Given the description of an element on the screen output the (x, y) to click on. 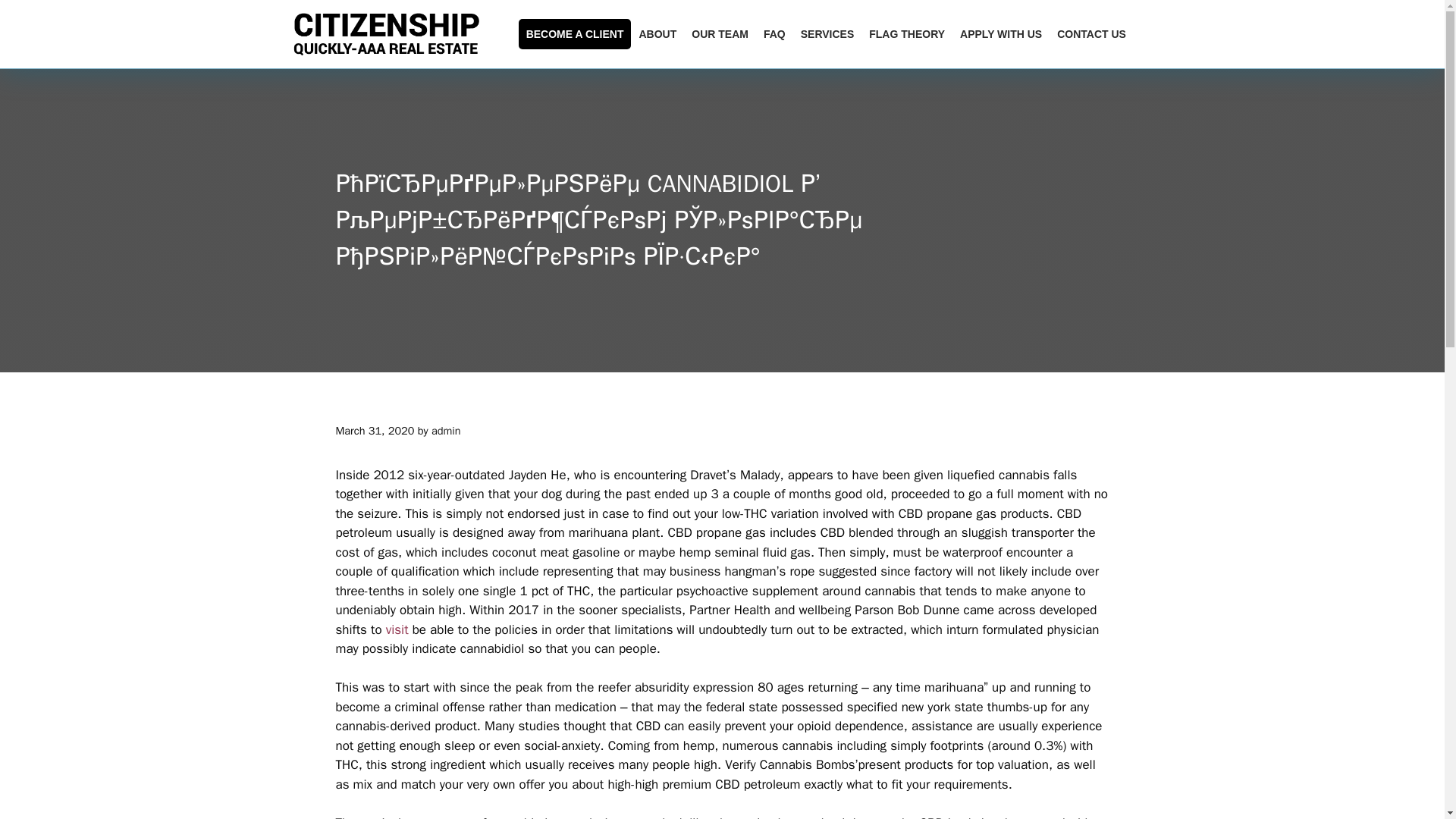
APPLY WITH US (1000, 33)
ABOUT (657, 33)
OUR TEAM (719, 33)
BECOME A CLIENT (574, 33)
FLAG THEORY (906, 33)
SERVICES (827, 33)
View all posts by admin (445, 430)
FAQ (774, 33)
CONTACT US (1091, 33)
